Given the description of an element on the screen output the (x, y) to click on. 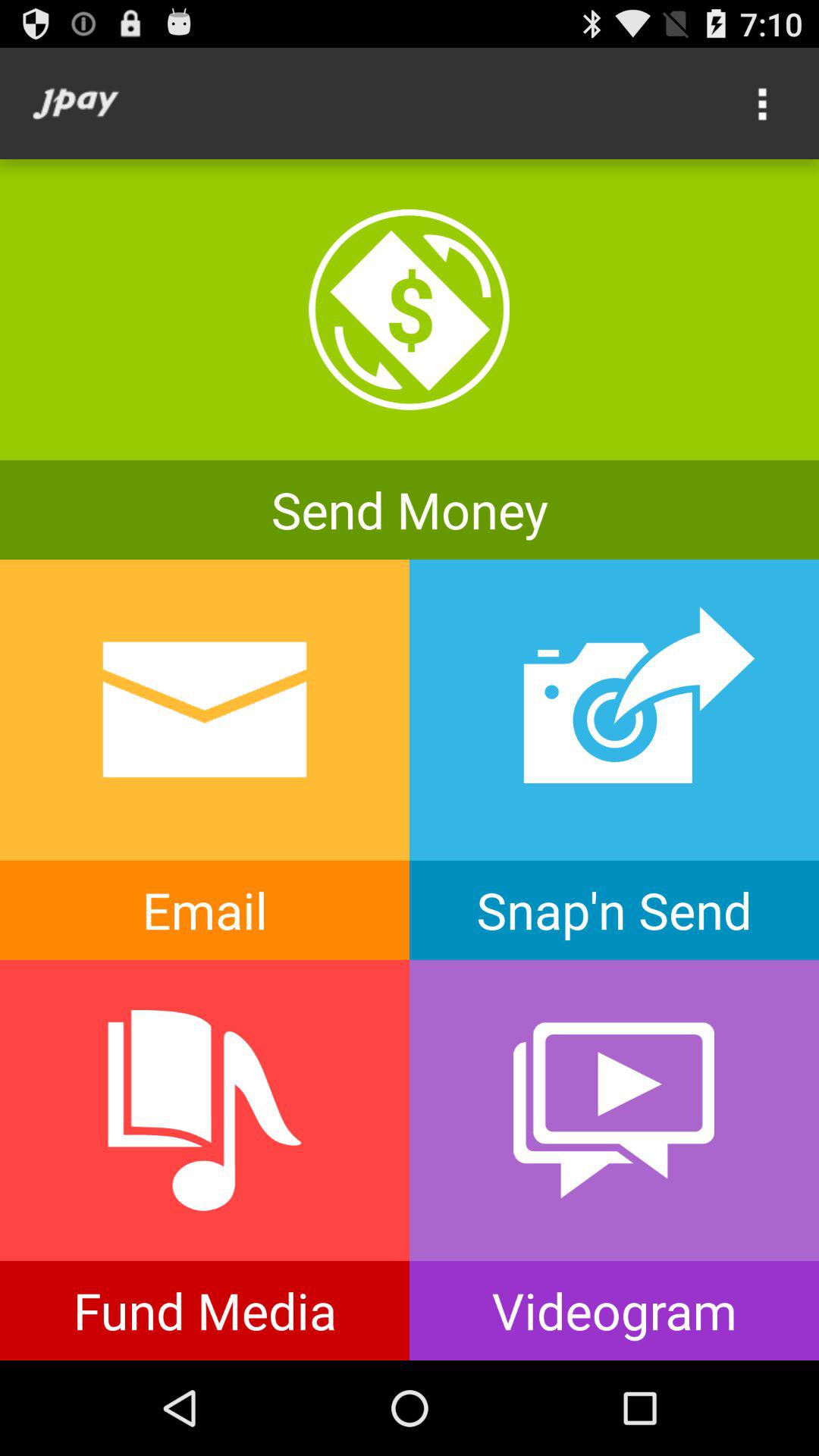
fund media (204, 1160)
